Given the description of an element on the screen output the (x, y) to click on. 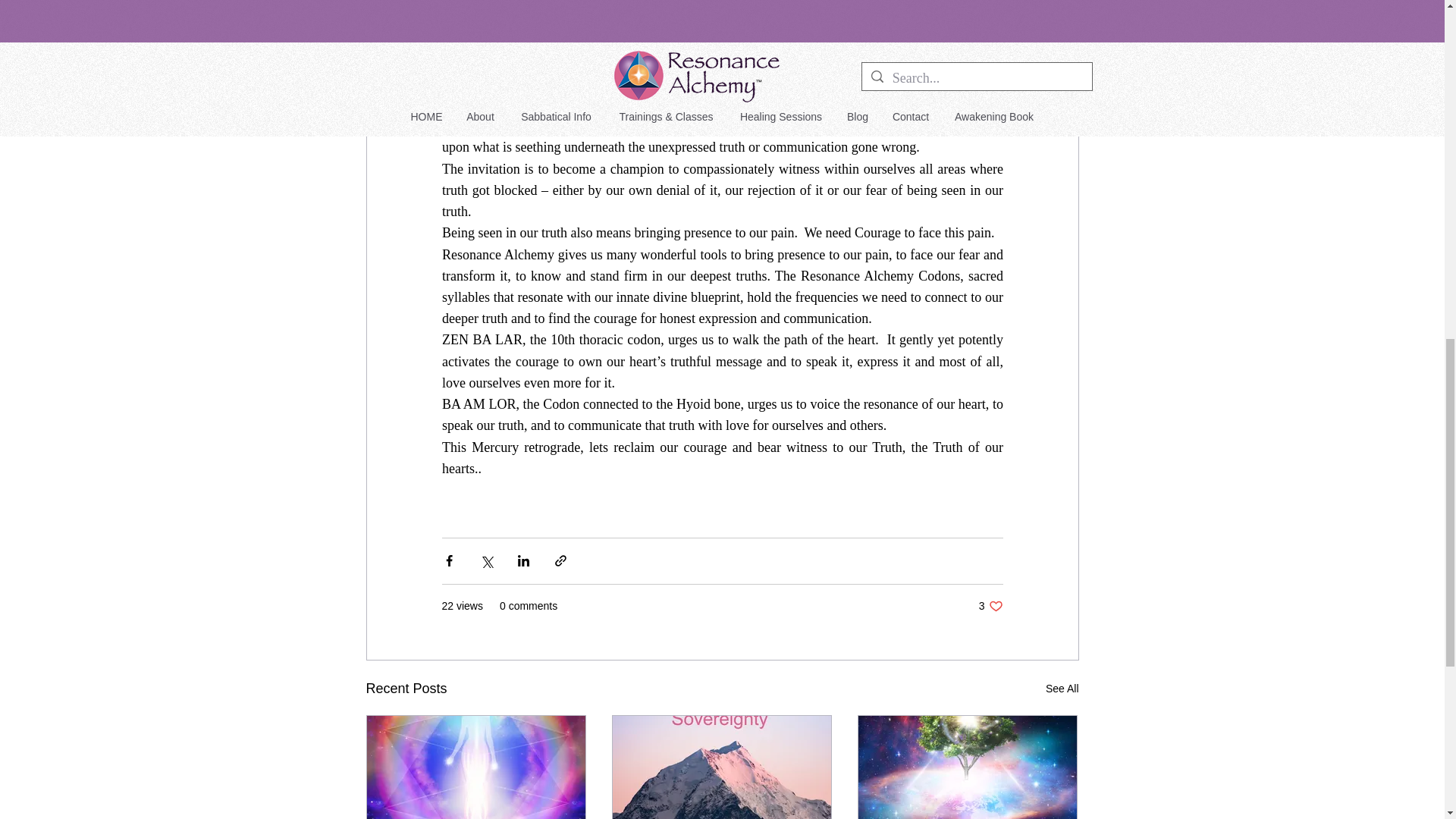
See All (1061, 689)
